Given the description of an element on the screen output the (x, y) to click on. 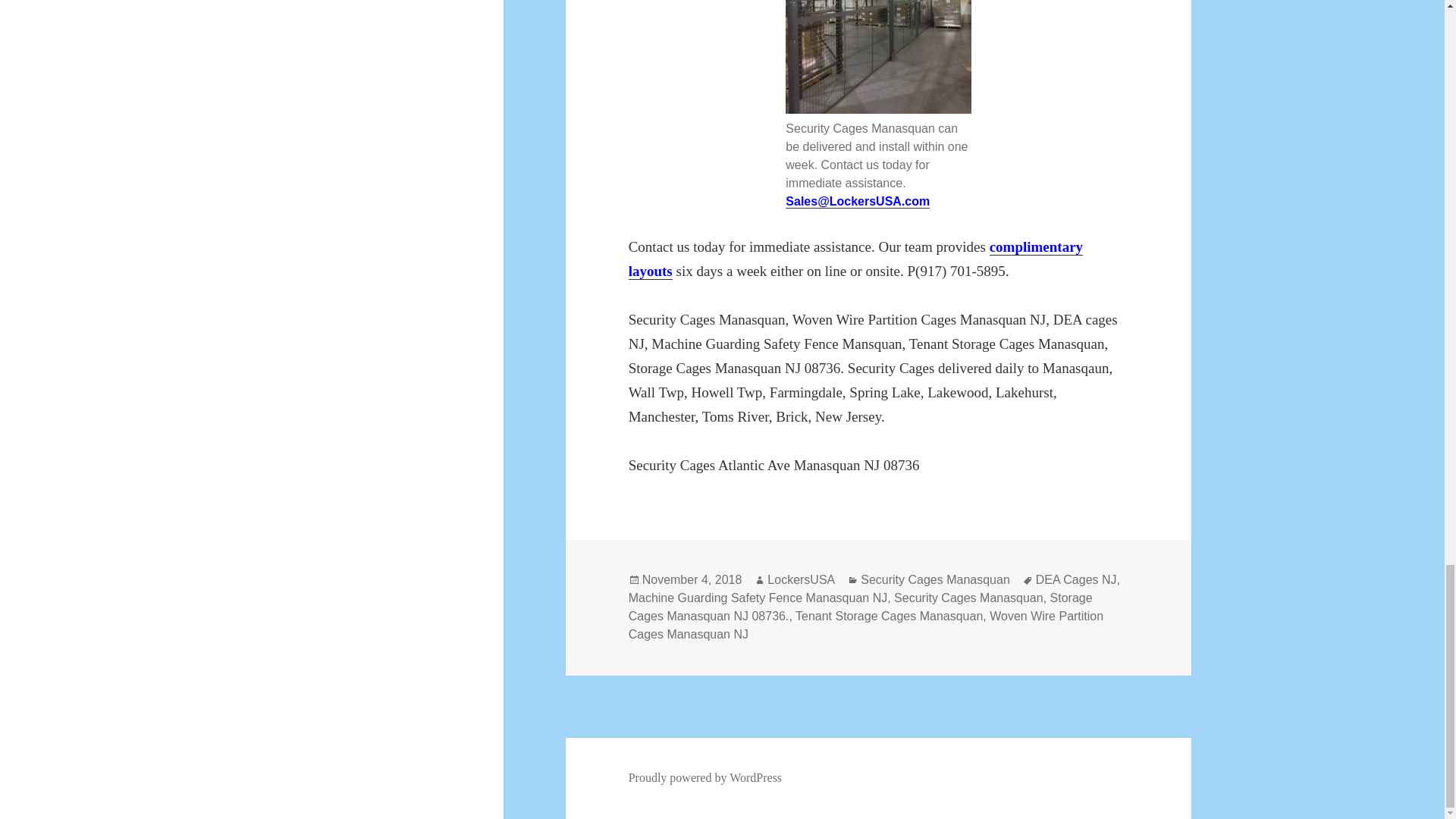
DEA Cages NJ (1075, 580)
Security Cages Manasquan (935, 580)
Machine Guarding Safety Fence Manasquan NJ (758, 598)
November 4, 2018 (692, 580)
complimentary layouts (855, 259)
LockersUSA (800, 580)
